Given the description of an element on the screen output the (x, y) to click on. 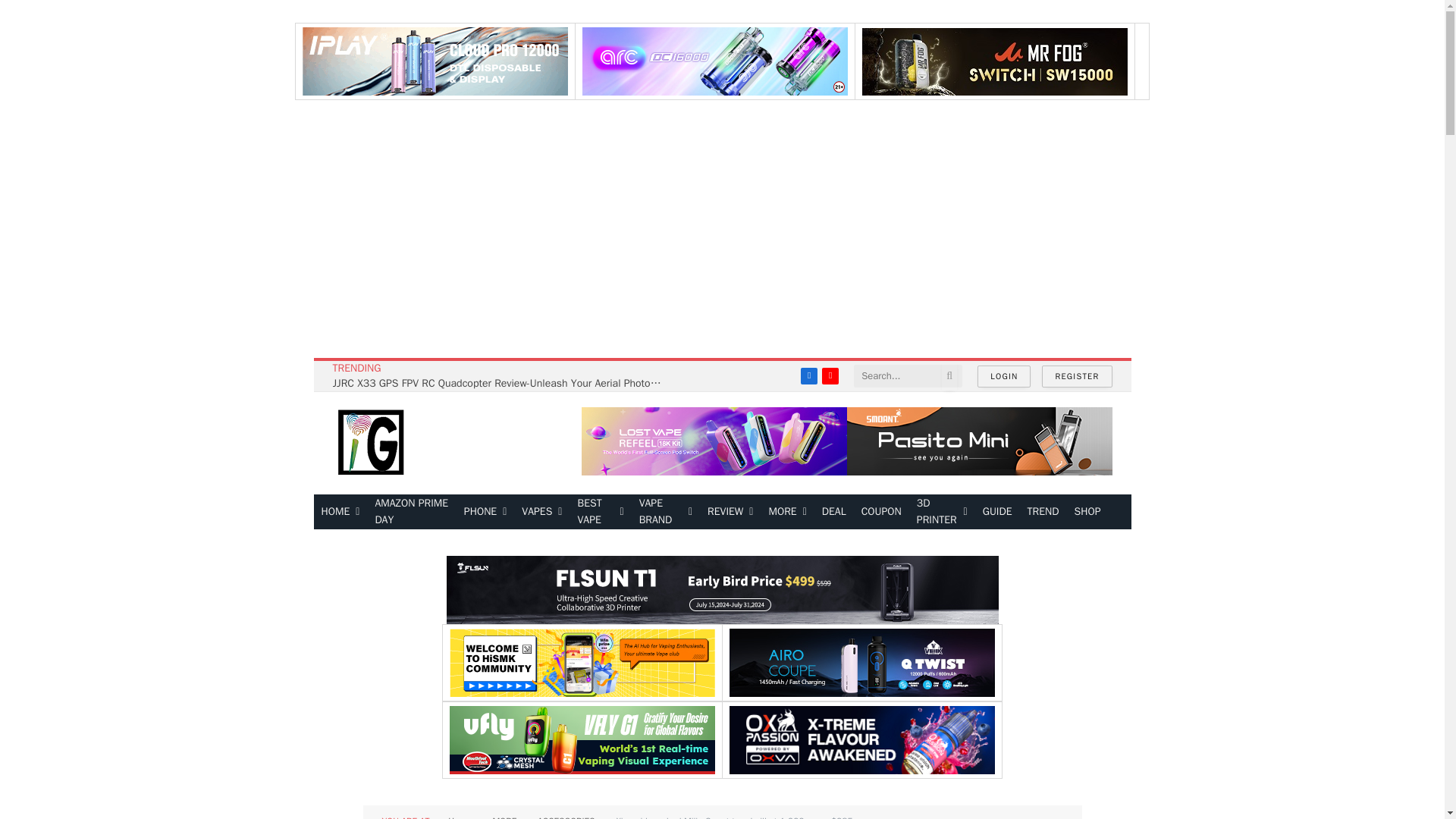
Facebook (808, 375)
PHONE (485, 511)
REGISTER (1077, 376)
AMAZON PRIME DAY (410, 511)
LOGIN (1003, 376)
YouTube (830, 375)
HOME (341, 511)
